Given the description of an element on the screen output the (x, y) to click on. 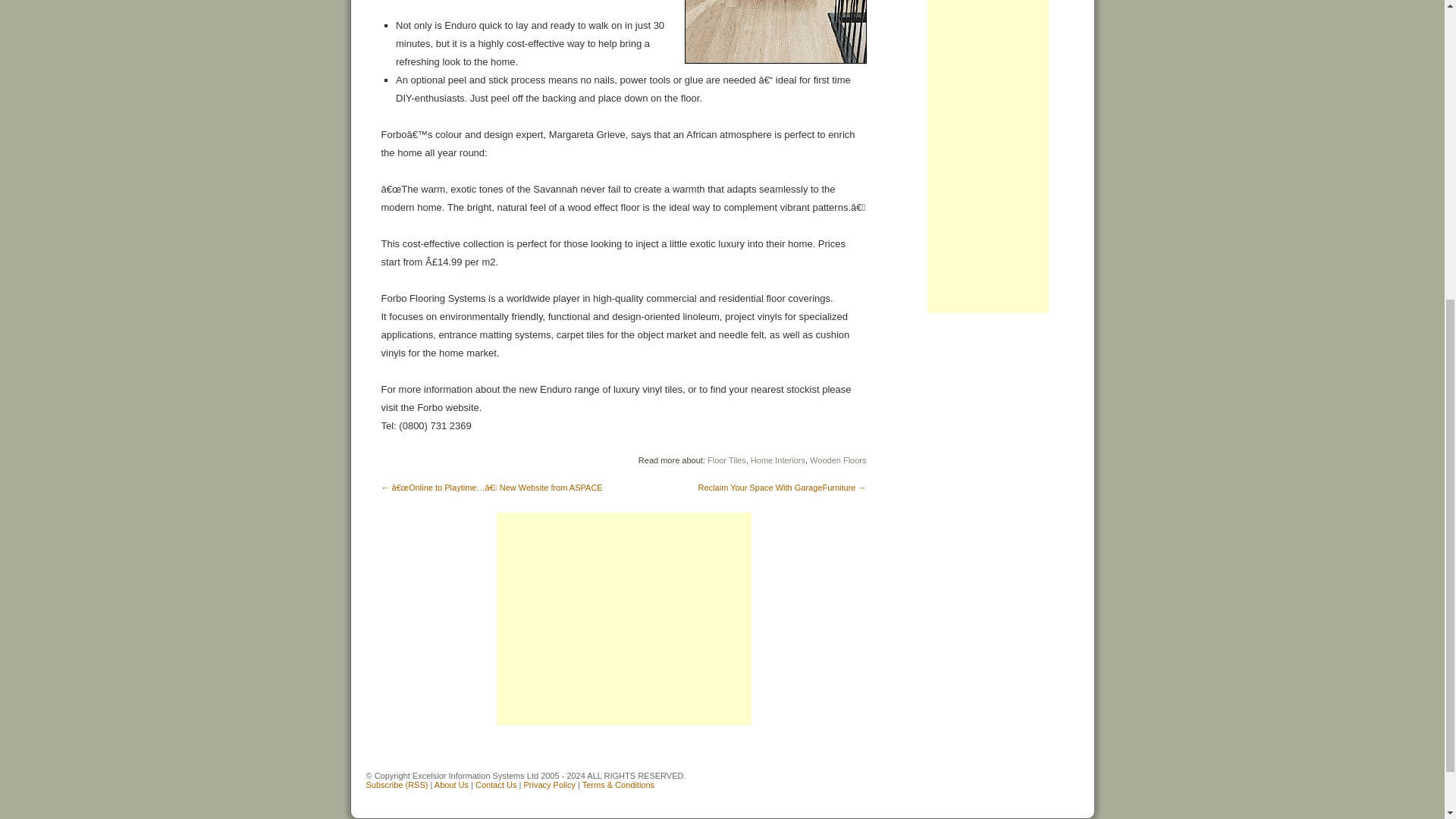
Floor Tiles (726, 460)
About Us (450, 784)
Wooden Floors (837, 460)
Home Interiors (778, 460)
